Given the description of an element on the screen output the (x, y) to click on. 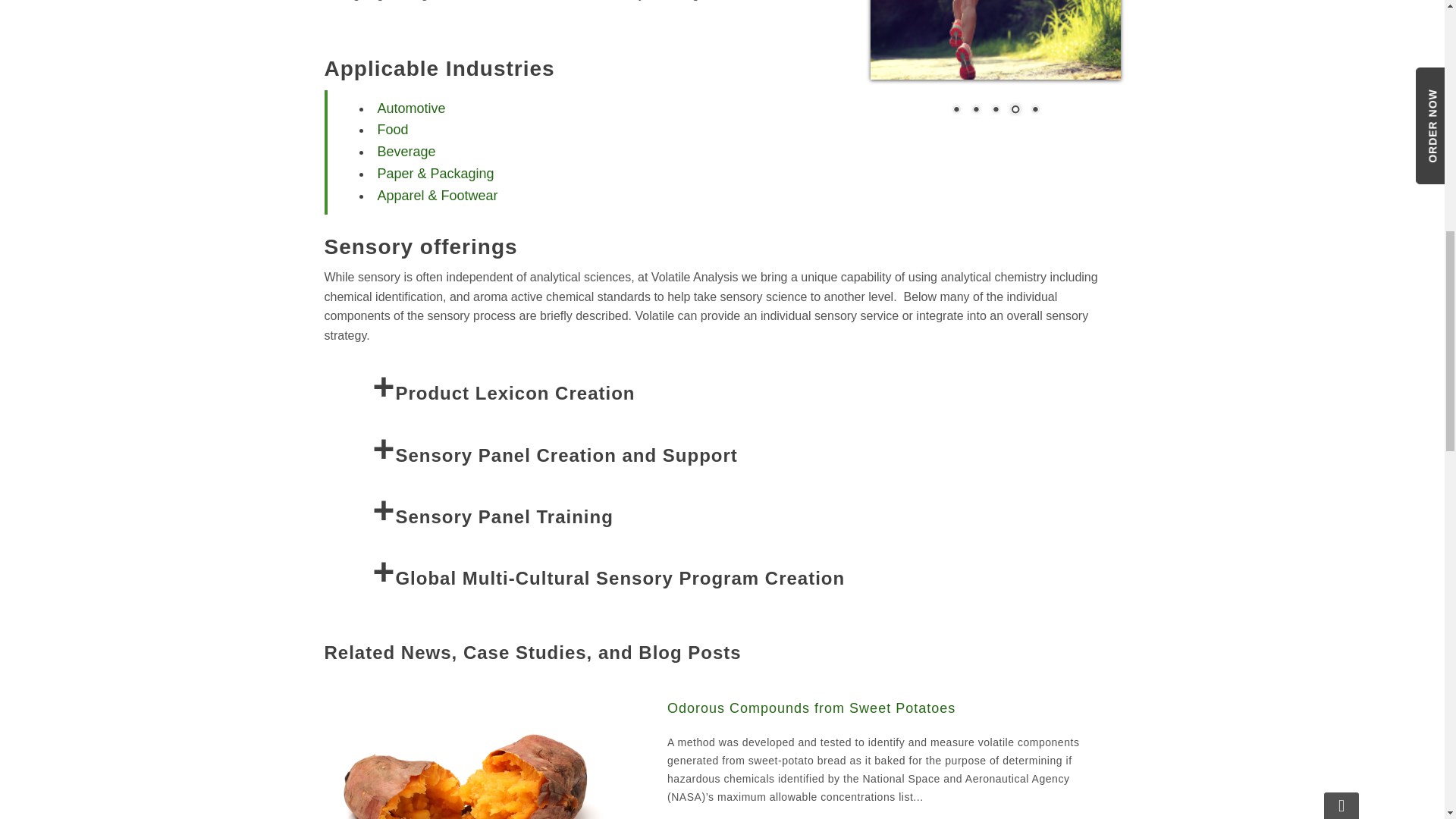
Odorous Compounds from Sweet Potatoes (887, 707)
Odorous Compounds from Sweet Potatoes (466, 790)
